Given the description of an element on the screen output the (x, y) to click on. 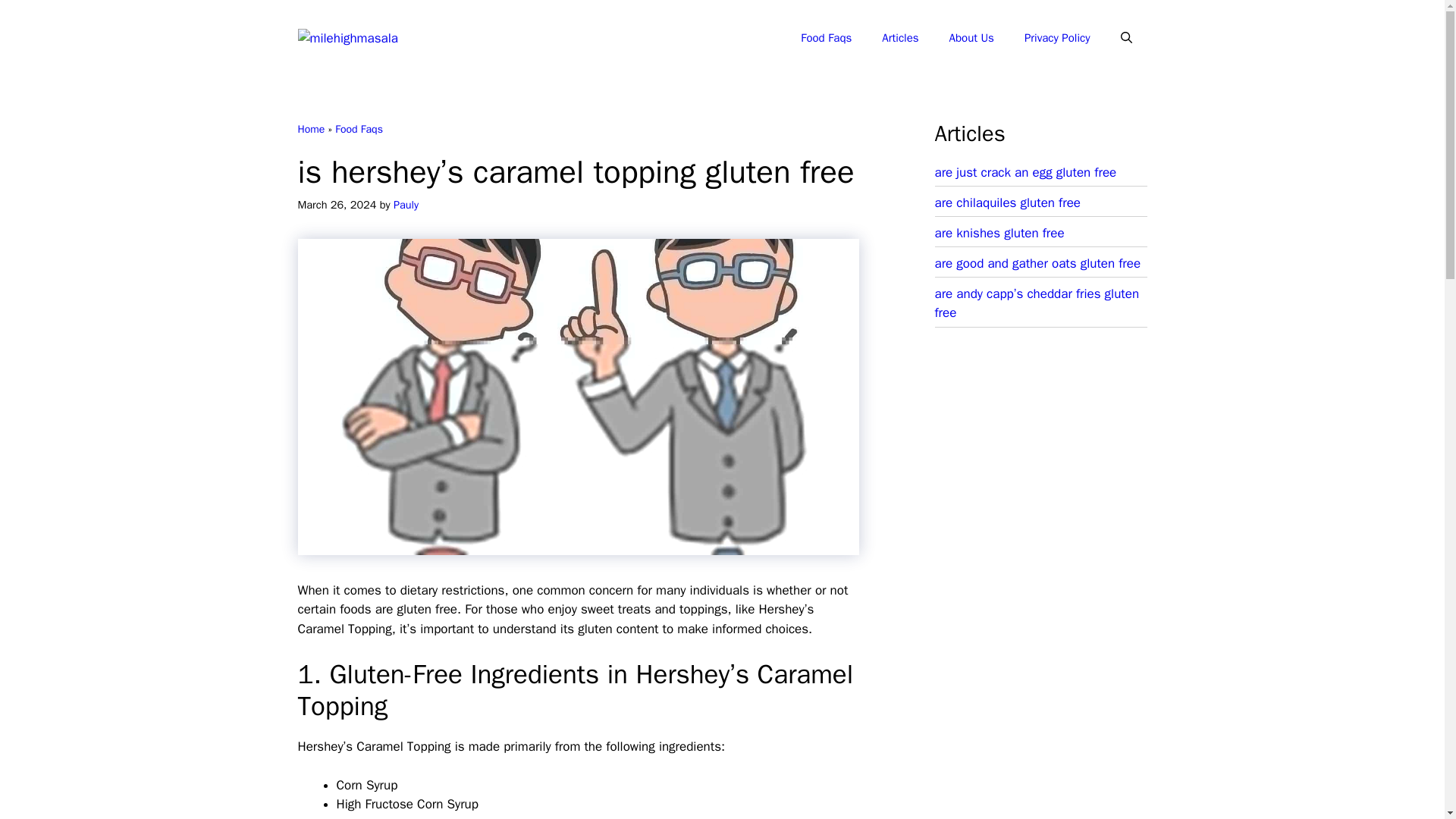
Pauly (406, 204)
About Us (971, 37)
Articles (899, 37)
Food Faqs (358, 128)
are just crack an egg gluten free (1025, 172)
are good and gather oats gluten free (1037, 263)
Privacy Policy (1057, 37)
are chilaquiles gluten free (1007, 202)
are knishes gluten free (999, 232)
Food Faqs (826, 37)
View all posts by Pauly (406, 204)
Home (310, 128)
